Given the description of an element on the screen output the (x, y) to click on. 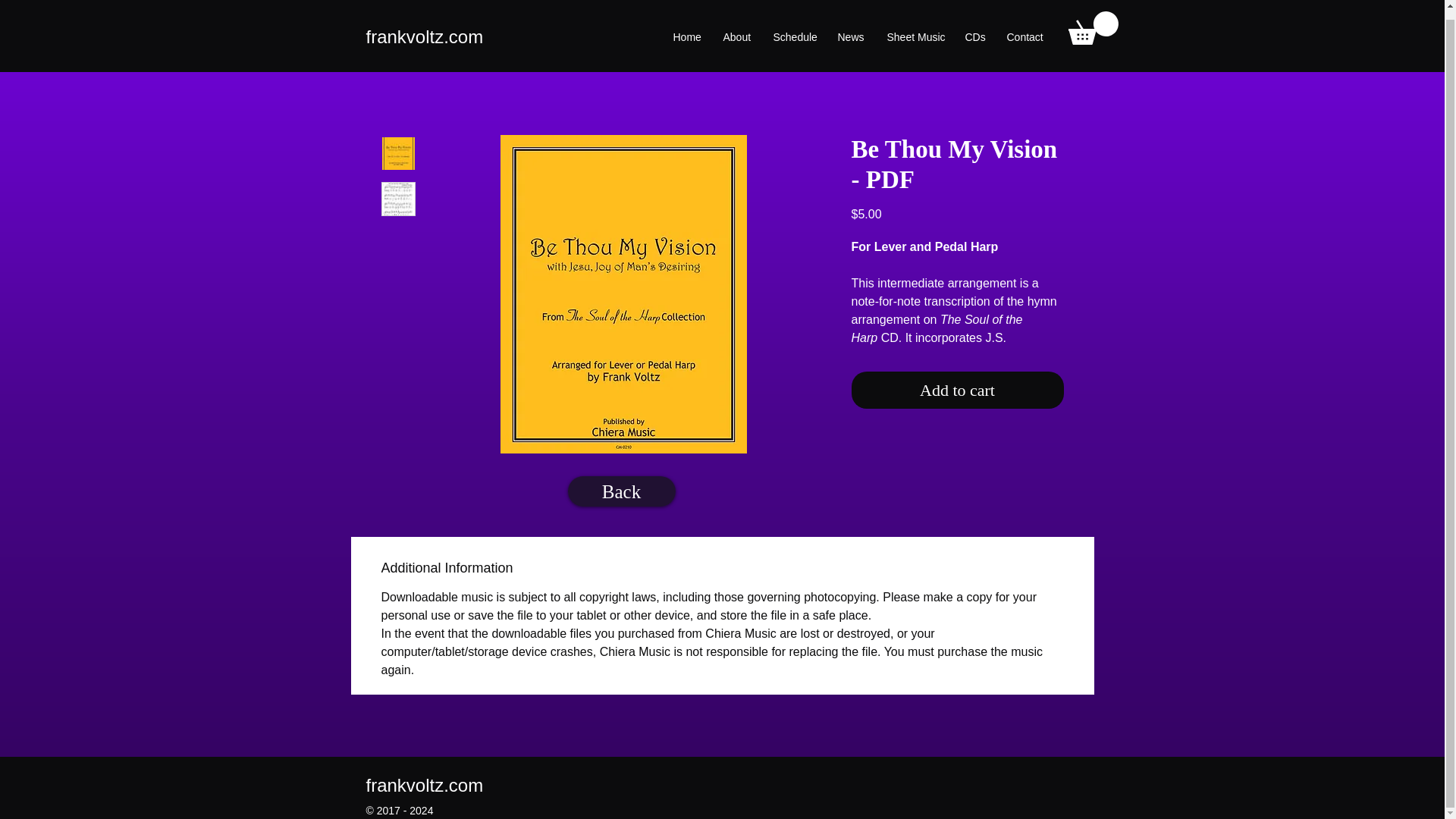
News (850, 28)
Add to cart (956, 389)
Sheet Music (914, 28)
Contact (1023, 28)
About (736, 28)
Home (686, 28)
CDs (974, 28)
Schedule (793, 28)
Back (621, 490)
